Given the description of an element on the screen output the (x, y) to click on. 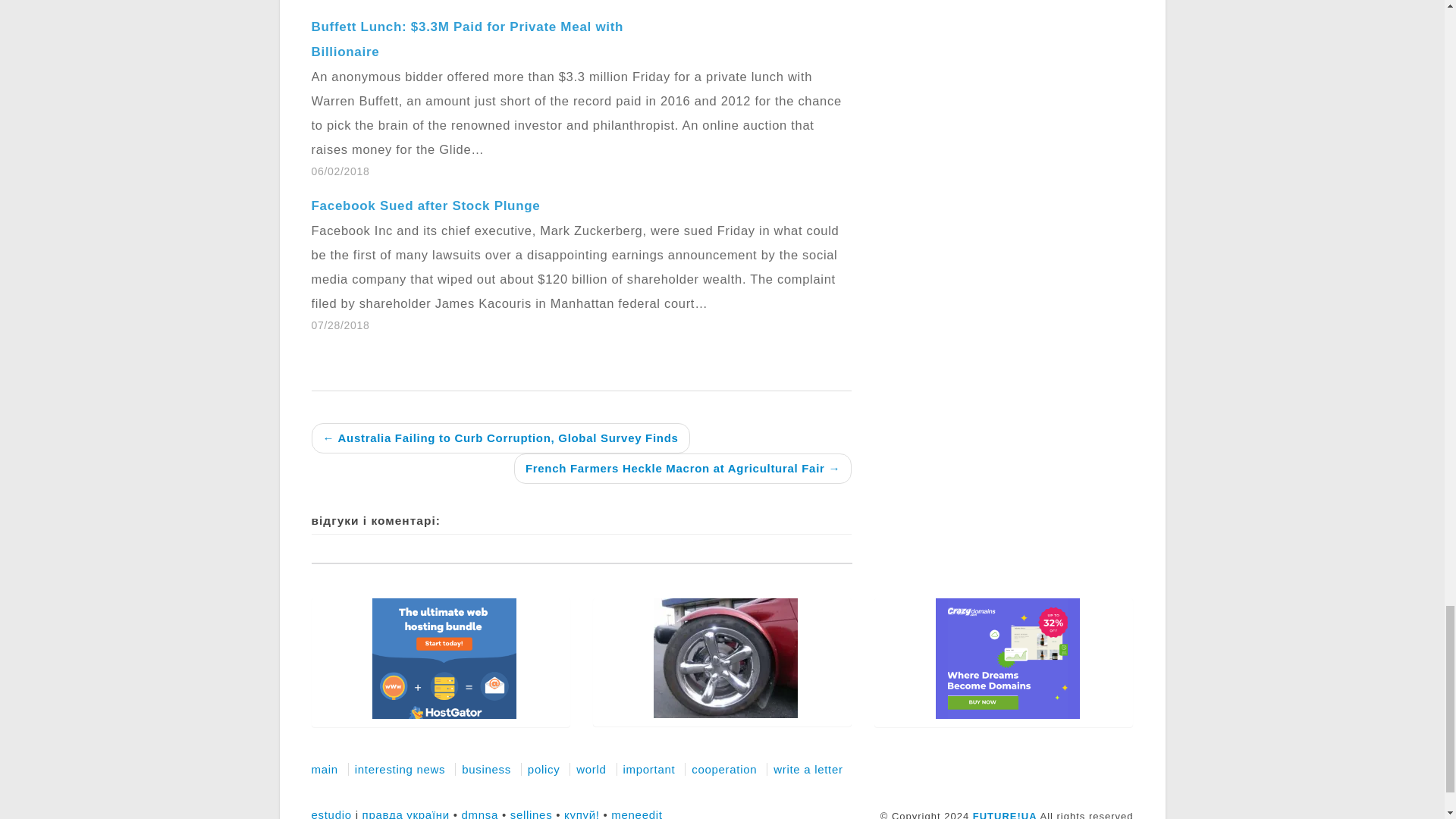
Facebook Sued after Stock Plunge (425, 205)
